Given the description of an element on the screen output the (x, y) to click on. 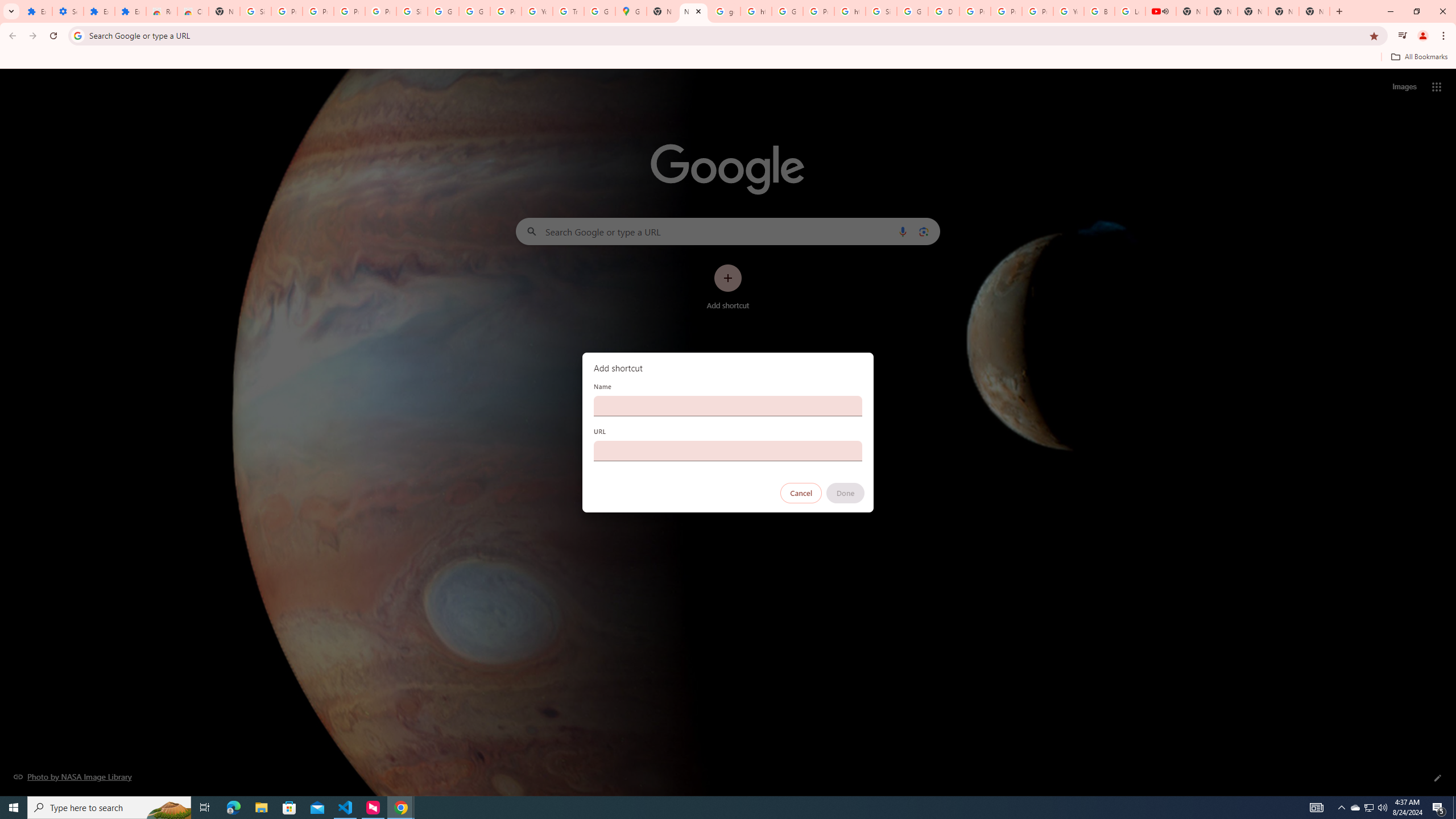
Reviews: Helix Fruit Jump Arcade Game (161, 11)
Privacy Help Center - Policies Help (1005, 11)
Sign in - Google Accounts (411, 11)
Extensions (98, 11)
